Given the description of an element on the screen output the (x, y) to click on. 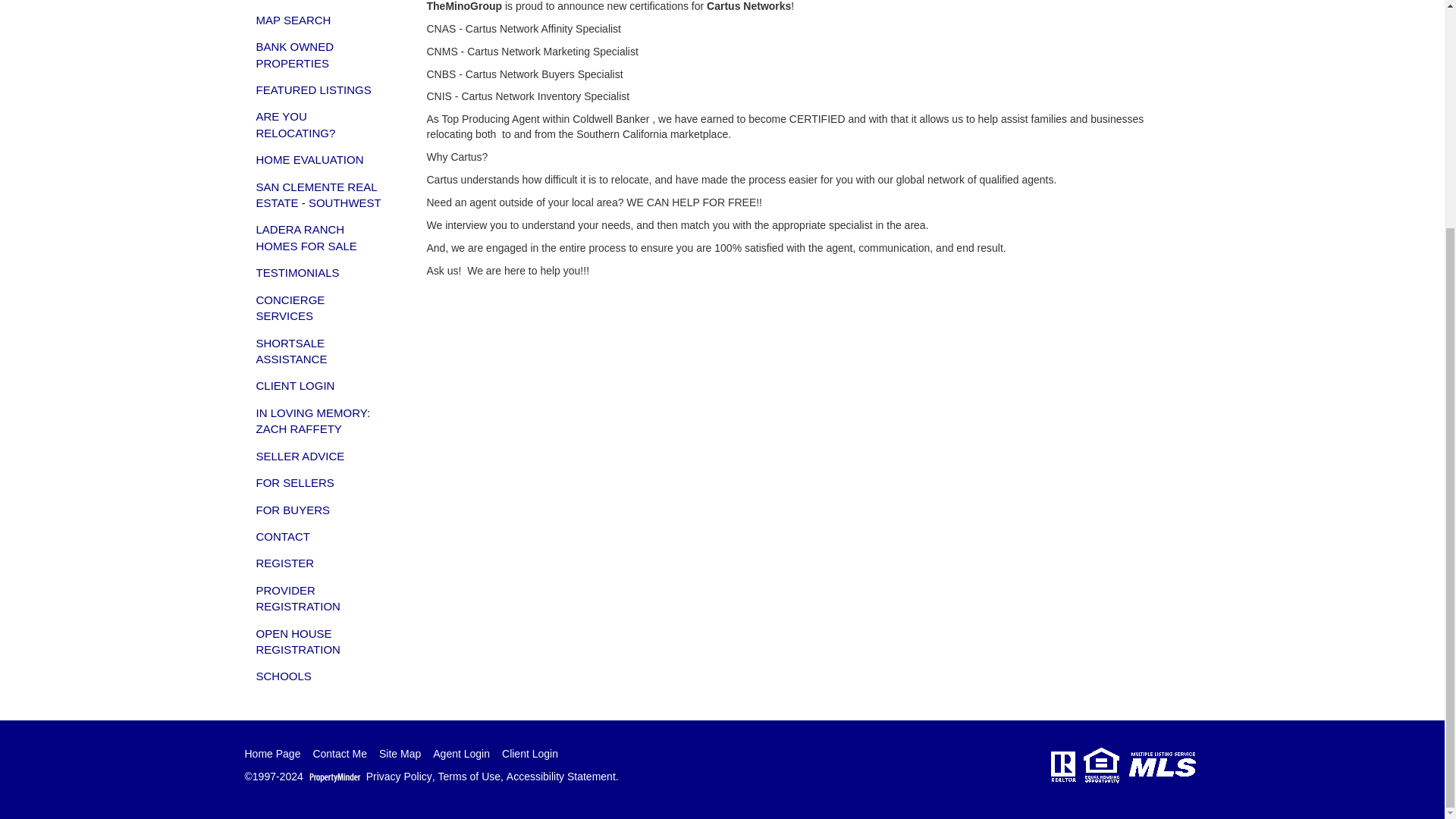
BANK OWNED PROPERTIES (320, 54)
CLIENT LOGIN (320, 385)
FOR BUYERS (320, 509)
SELLER ADVICE (320, 456)
MAP SEARCH (320, 19)
FEATURED LISTINGS (320, 89)
FOR SELLERS (320, 482)
IN LOVING MEMORY: ZACH RAFFETY (320, 421)
HOME EVALUATION (320, 159)
SHORTSALE ASSISTANCE (320, 351)
CONCIERGE SERVICES (320, 308)
ARE YOU RELOCATING? (320, 124)
LADERA RANCH HOMES FOR SALE (320, 237)
PROPERTY SEARCH (320, 2)
SAN CLEMENTE REAL ESTATE - SOUTHWEST (320, 195)
